Given the description of an element on the screen output the (x, y) to click on. 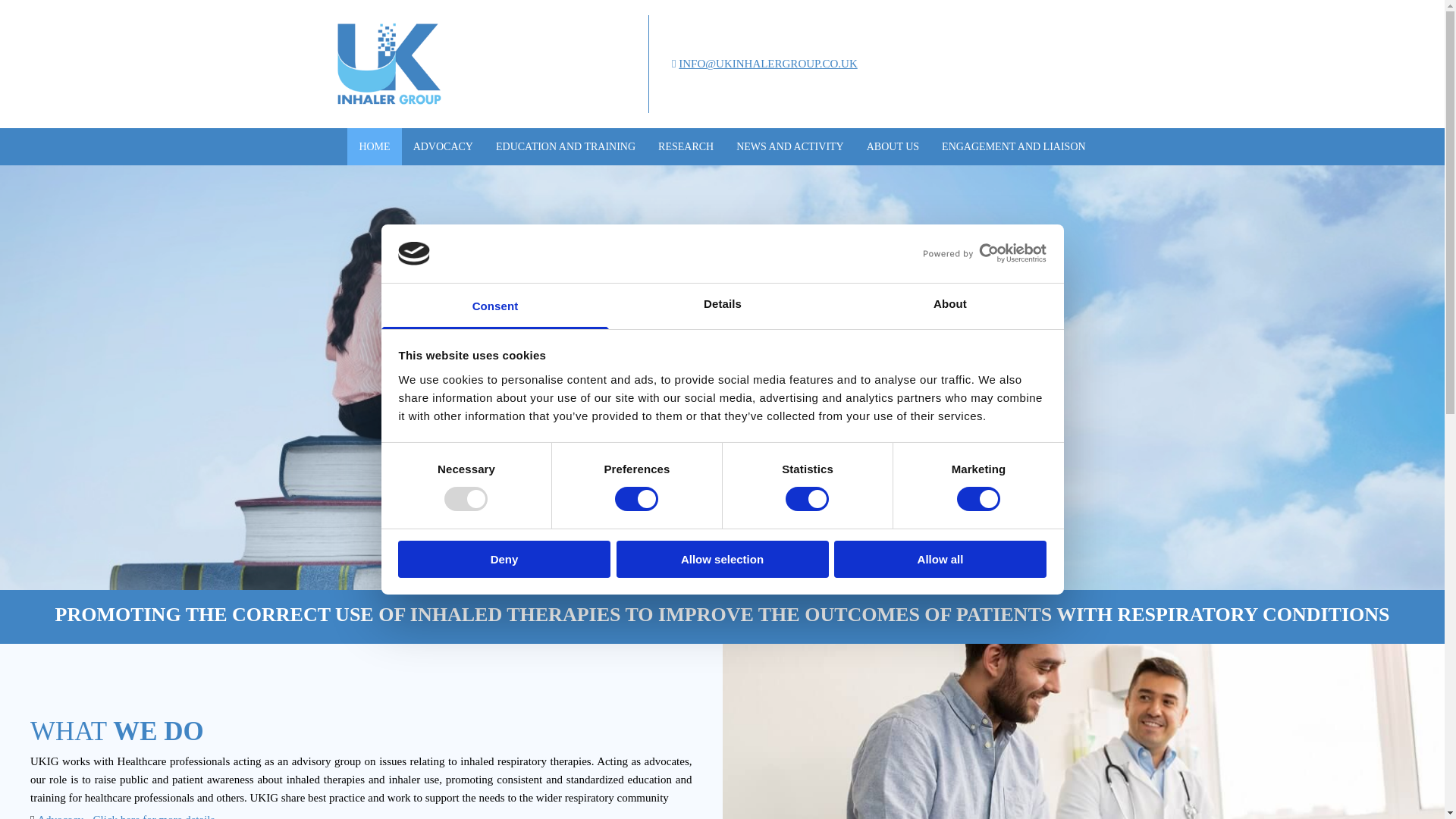
Allow all (940, 559)
ABOUT US (893, 146)
NEWS AND ACTIVITY (790, 146)
ADVOCACY (442, 146)
Allow selection (721, 559)
Consent (494, 306)
HOME (374, 146)
About (948, 306)
Deny (503, 559)
RESEARCH (685, 146)
EDUCATION AND TRAINING (565, 146)
Details (721, 306)
ENGAGEMENT AND LIAISON (1013, 146)
